Given the description of an element on the screen output the (x, y) to click on. 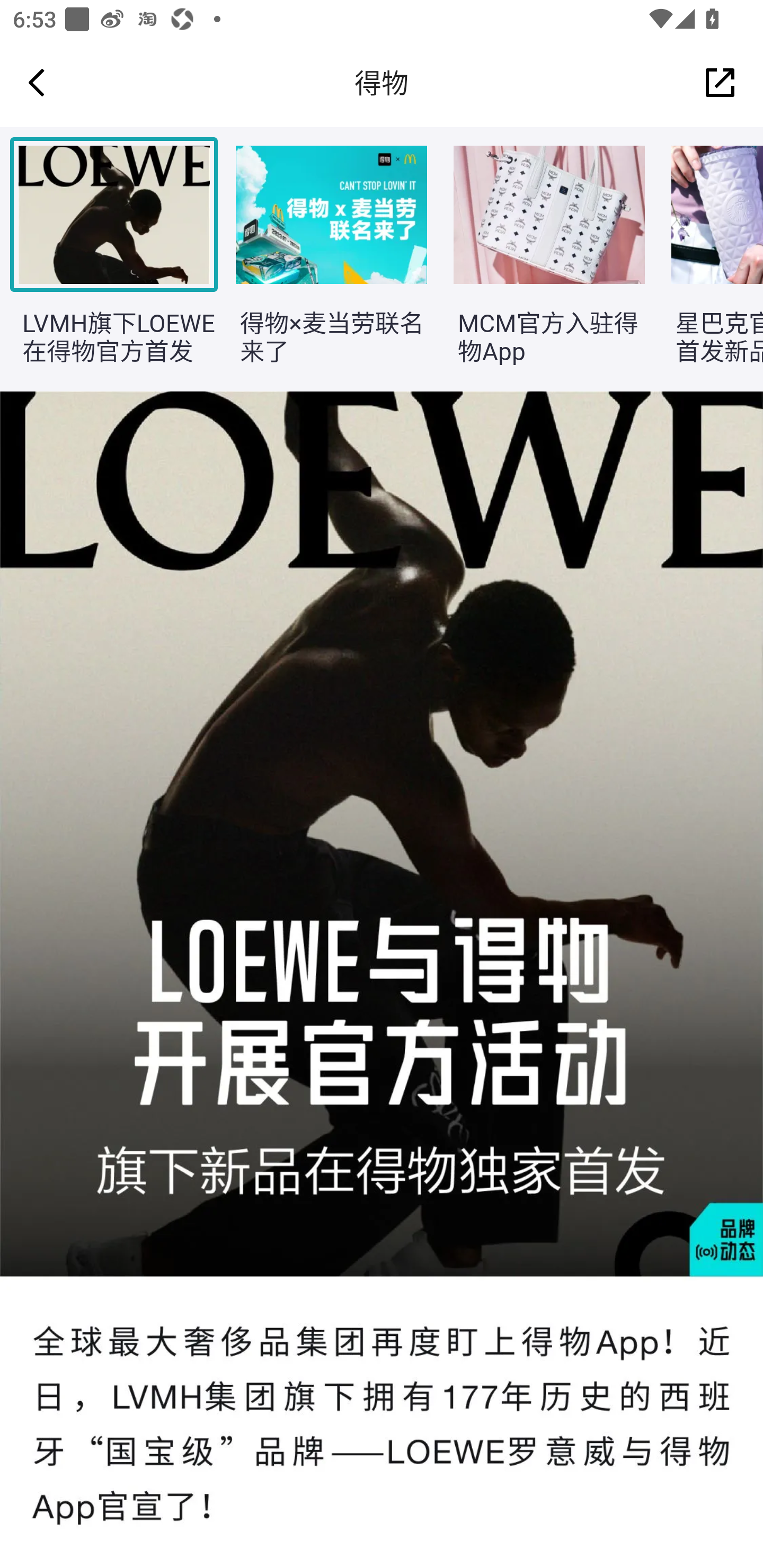
Navigate up (36, 82)
resize,w_306,h_228 LVMH旗下LOEWE在得物官方首发 (104, 259)
resize,w_306,h_228 得物×麦当劳联名来了 (320, 259)
resize,w_306,h_228 MCM官方入驻得物App (538, 259)
